Given the description of an element on the screen output the (x, y) to click on. 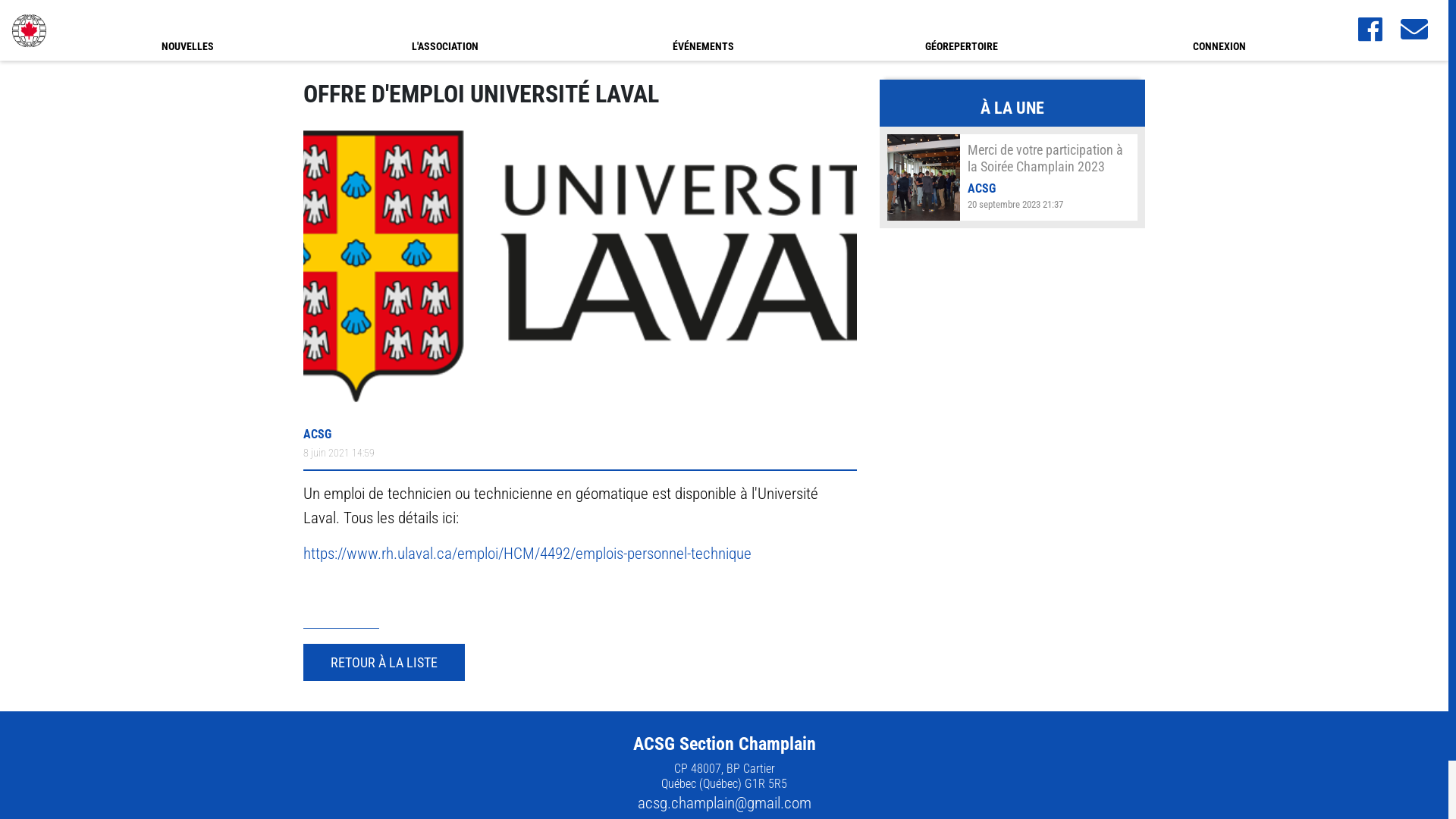
NOUVELLES Element type: text (187, 29)
L'ASSOCIATION Element type: text (445, 29)
CONNEXION Element type: text (1219, 29)
acsg.champlain@gmail.com Element type: text (723, 804)
